Given the description of an element on the screen output the (x, y) to click on. 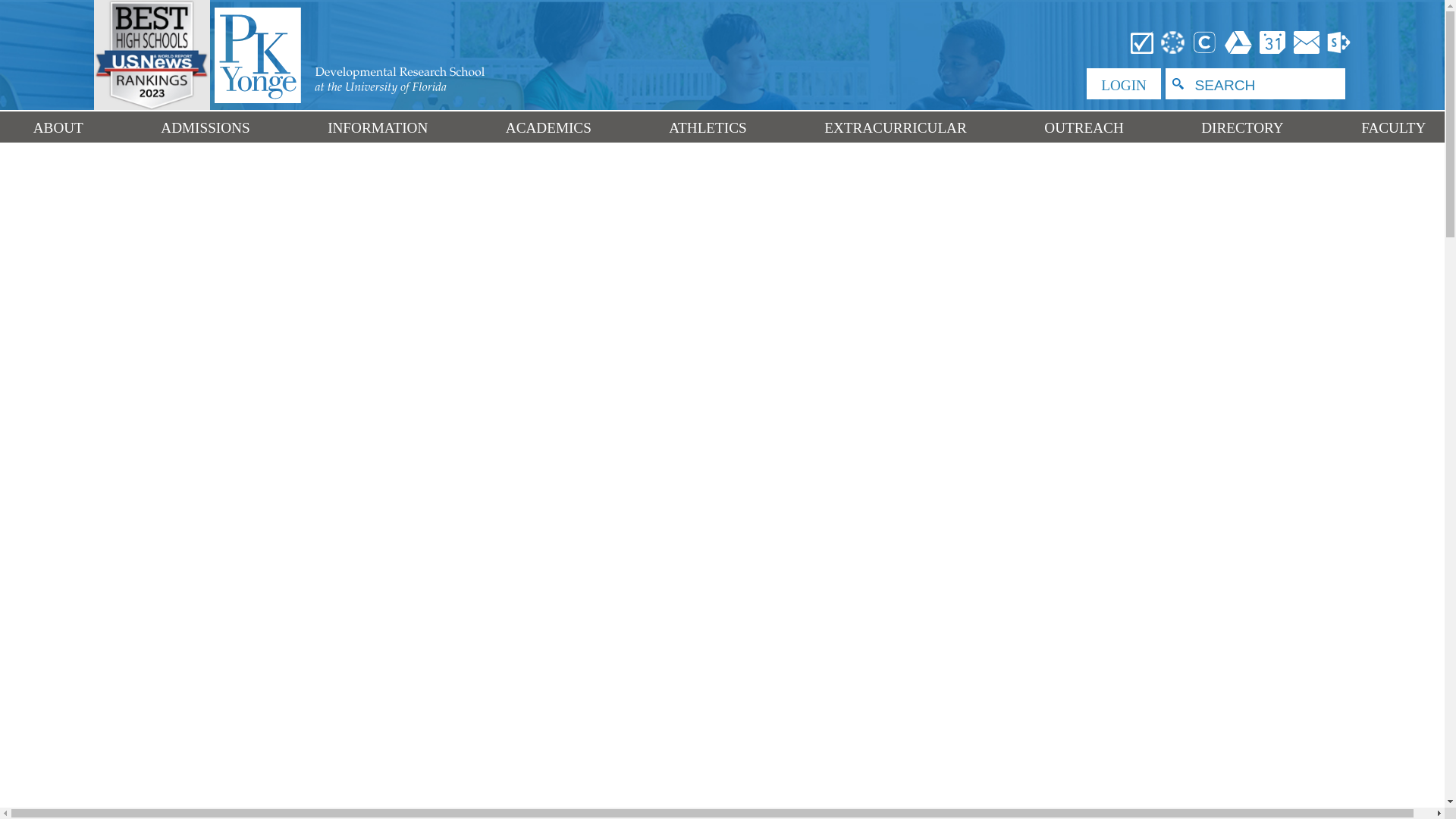
Calendar (1273, 40)
Outlook Web App (1306, 40)
LOGIN (1123, 83)
Google Drive (1238, 40)
Sharepoint (1337, 40)
Clever (1205, 40)
Skyward (1141, 40)
Canvas (1173, 40)
